Given the description of an element on the screen output the (x, y) to click on. 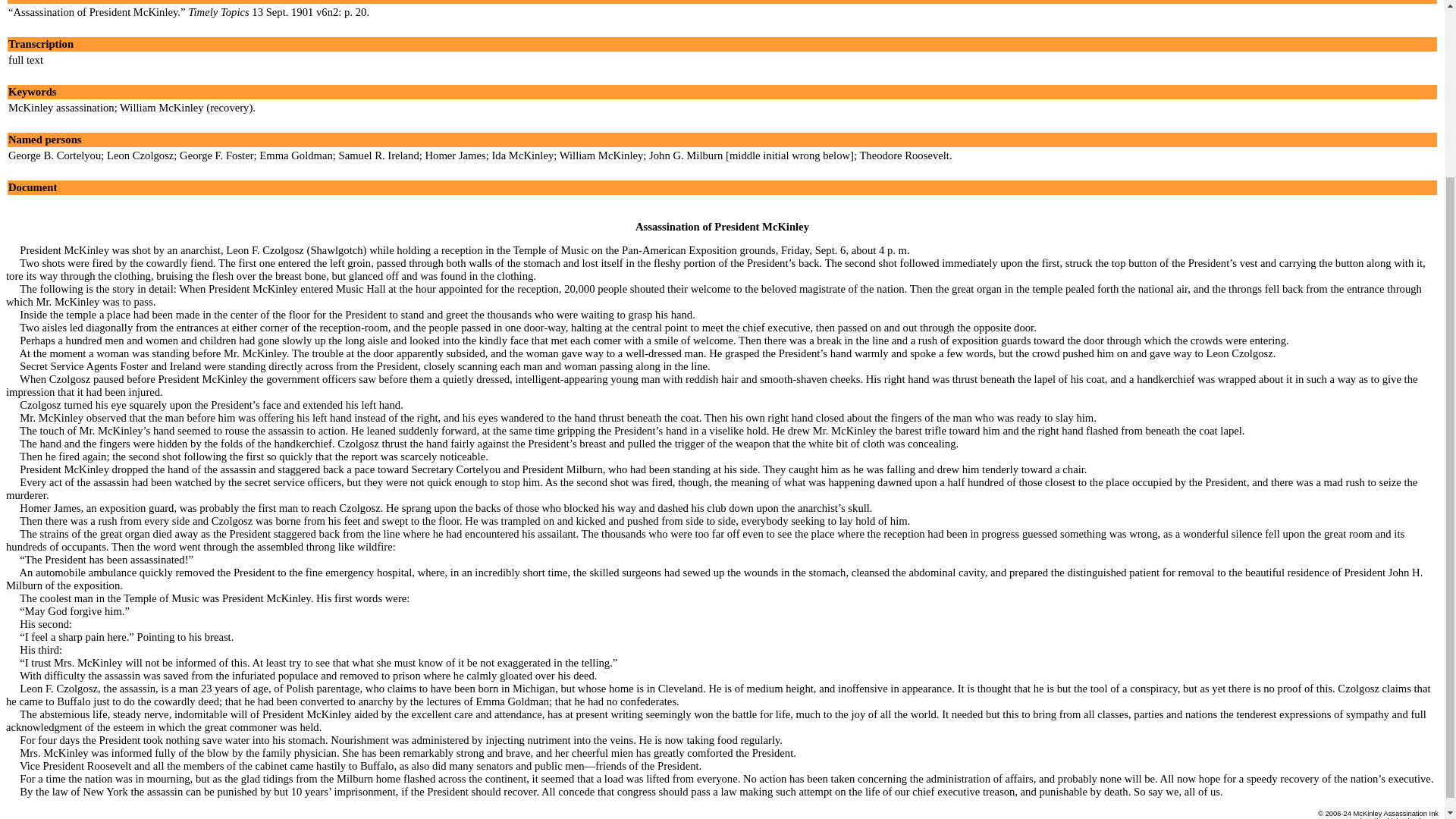
George F. Foster (216, 155)
McKinley assassination (61, 107)
Theodore Roosevelt (904, 155)
Leon Czolgosz (139, 155)
Ida McKinley (522, 155)
John G. Milburn (685, 155)
Emma Goldman (295, 155)
William McKinley (601, 155)
Homer James (455, 155)
George B. Cortelyou (54, 155)
